Given the description of an element on the screen output the (x, y) to click on. 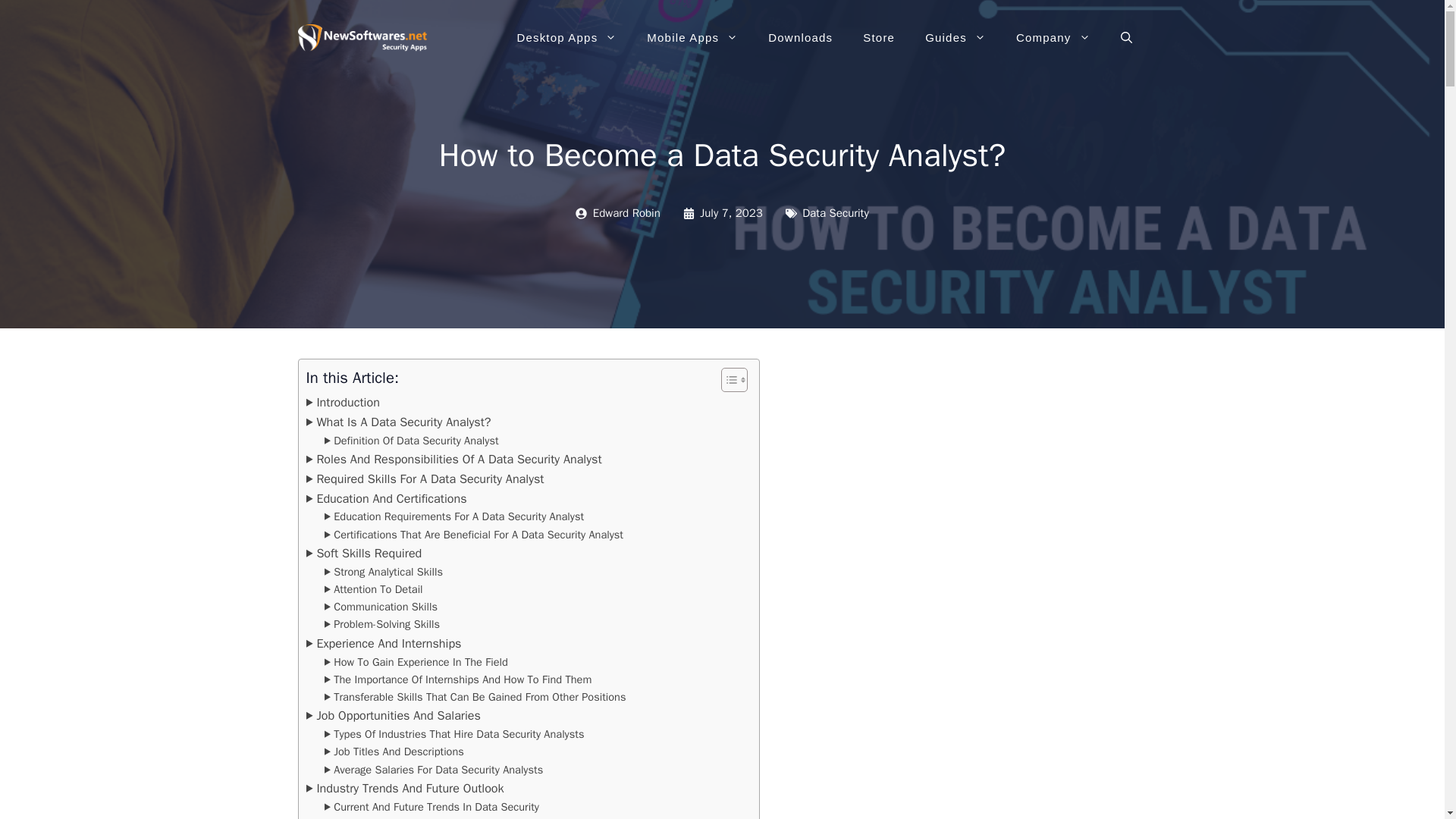
Store (878, 37)
The Importance Of Internships And How To Find Them (458, 679)
Downloads (799, 37)
Transferable Skills That Can Be Gained From Other Positions (475, 696)
Job Opportunities And Salaries (392, 715)
What Is A Data Security Analyst? (398, 422)
Experience And Internships (383, 643)
Desktop Apps (565, 37)
How To Gain Experience In The Field (416, 661)
Required Skills For A Data Security Analyst (424, 478)
Communication Skills (381, 606)
Education And Certifications (386, 498)
Problem-Solving Skills (381, 624)
Soft Skills Required (363, 553)
